Given the description of an element on the screen output the (x, y) to click on. 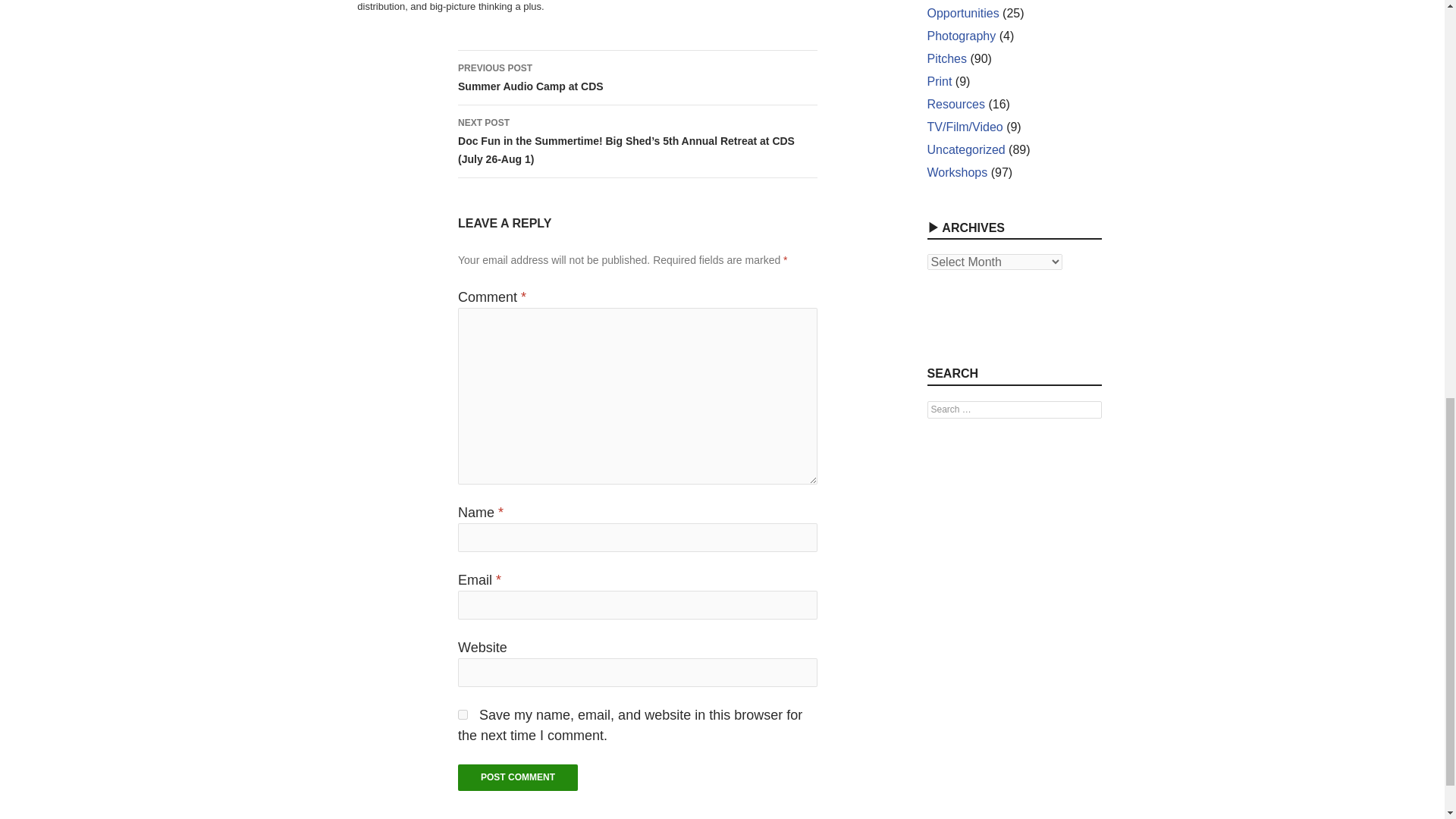
Resources (955, 103)
Post Comment (637, 77)
Post Comment (518, 777)
Opportunities (518, 777)
Print (962, 12)
yes (939, 81)
Uncategorized (462, 714)
Pitches (965, 149)
Photography (946, 58)
